Given the description of an element on the screen output the (x, y) to click on. 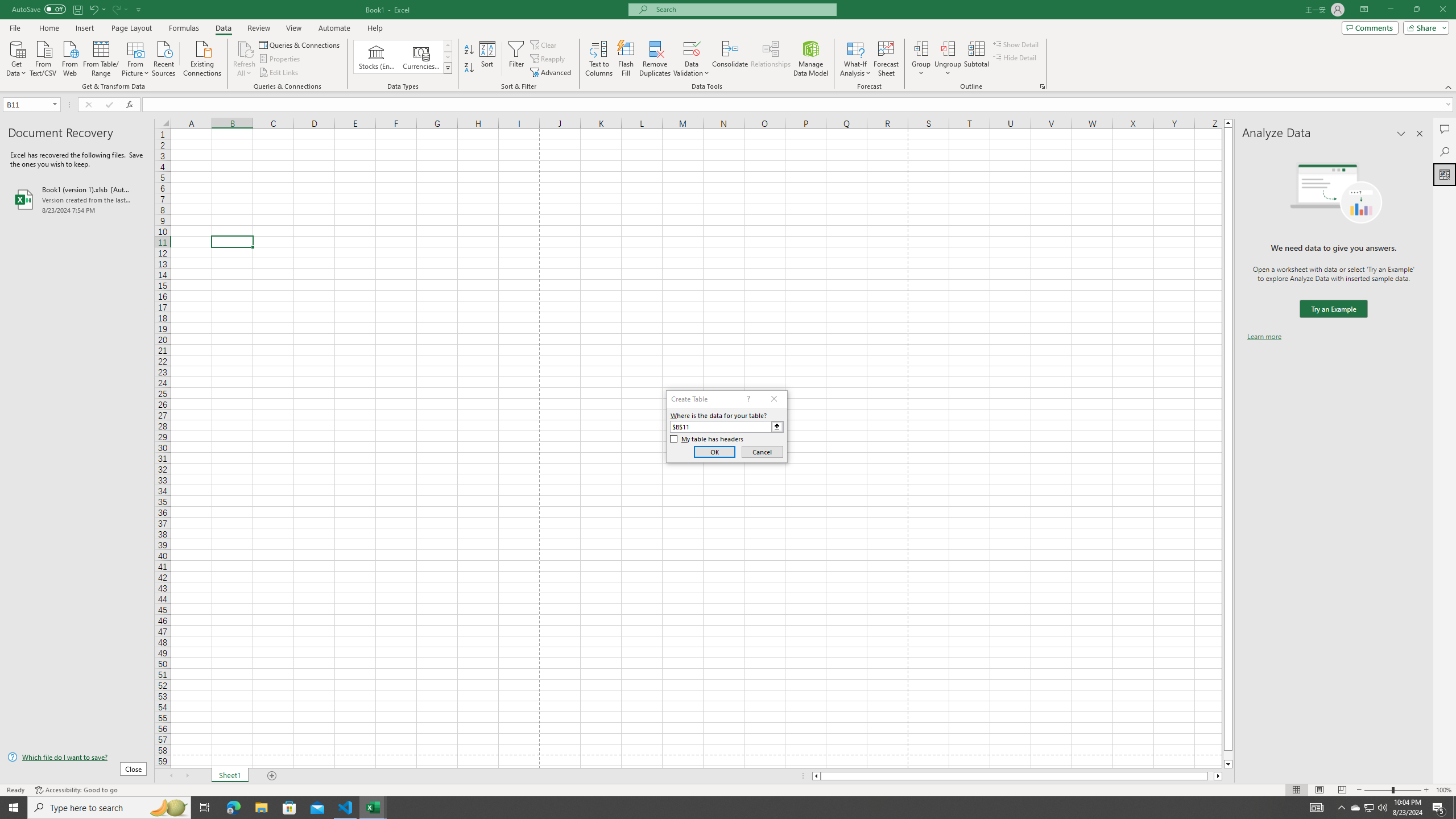
We need data to give you answers. Try an Example (1333, 308)
